Given the description of an element on the screen output the (x, y) to click on. 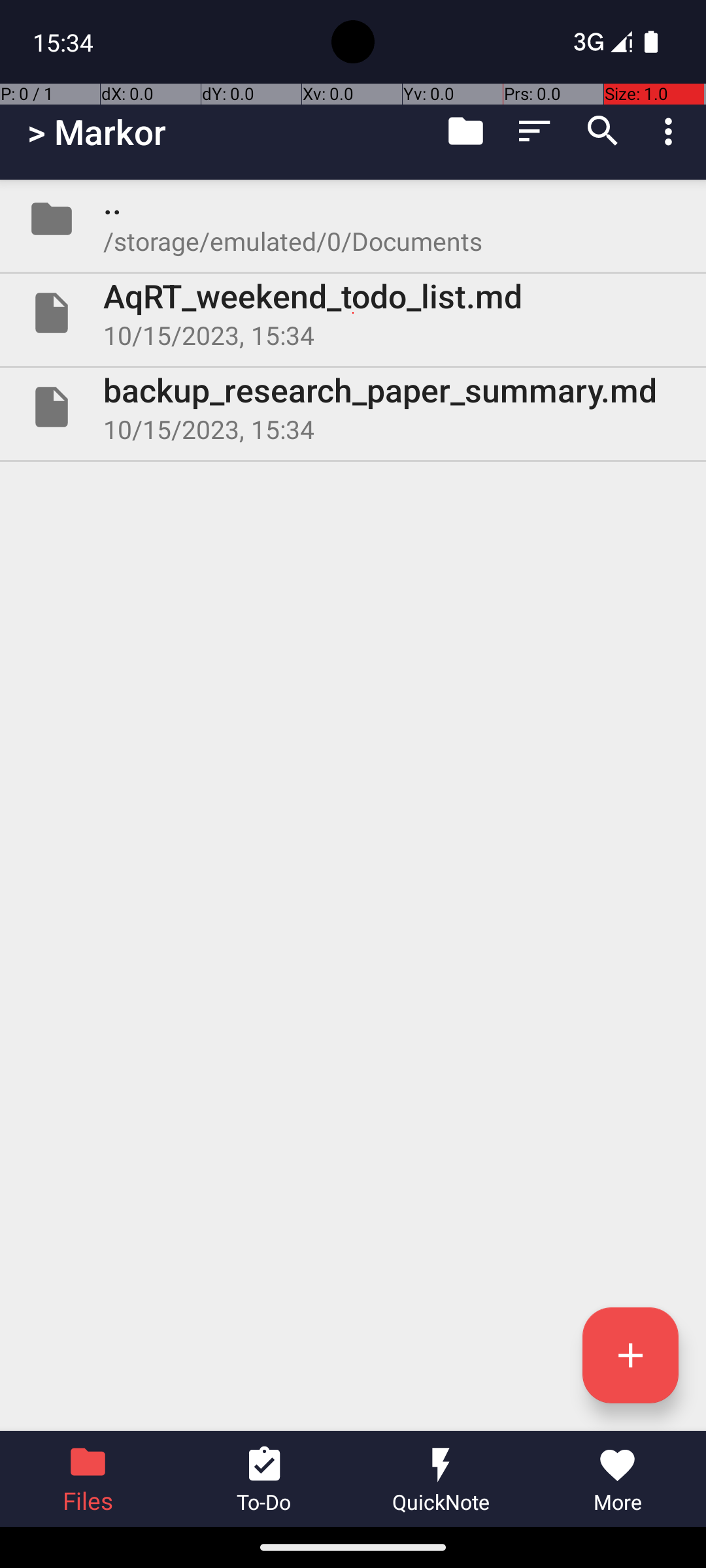
> Markor Element type: android.widget.TextView (96, 131)
Folder .. /storage/emulated/0 Element type: android.widget.LinearLayout (353, 218)
File AqRT_weekend_todo_list.md 10/15/2023, 15:34 Element type: android.widget.LinearLayout (353, 312)
File backup_research_paper_summary.md 10/15/2023, 15:34 Element type: android.widget.LinearLayout (353, 406)
